Given the description of an element on the screen output the (x, y) to click on. 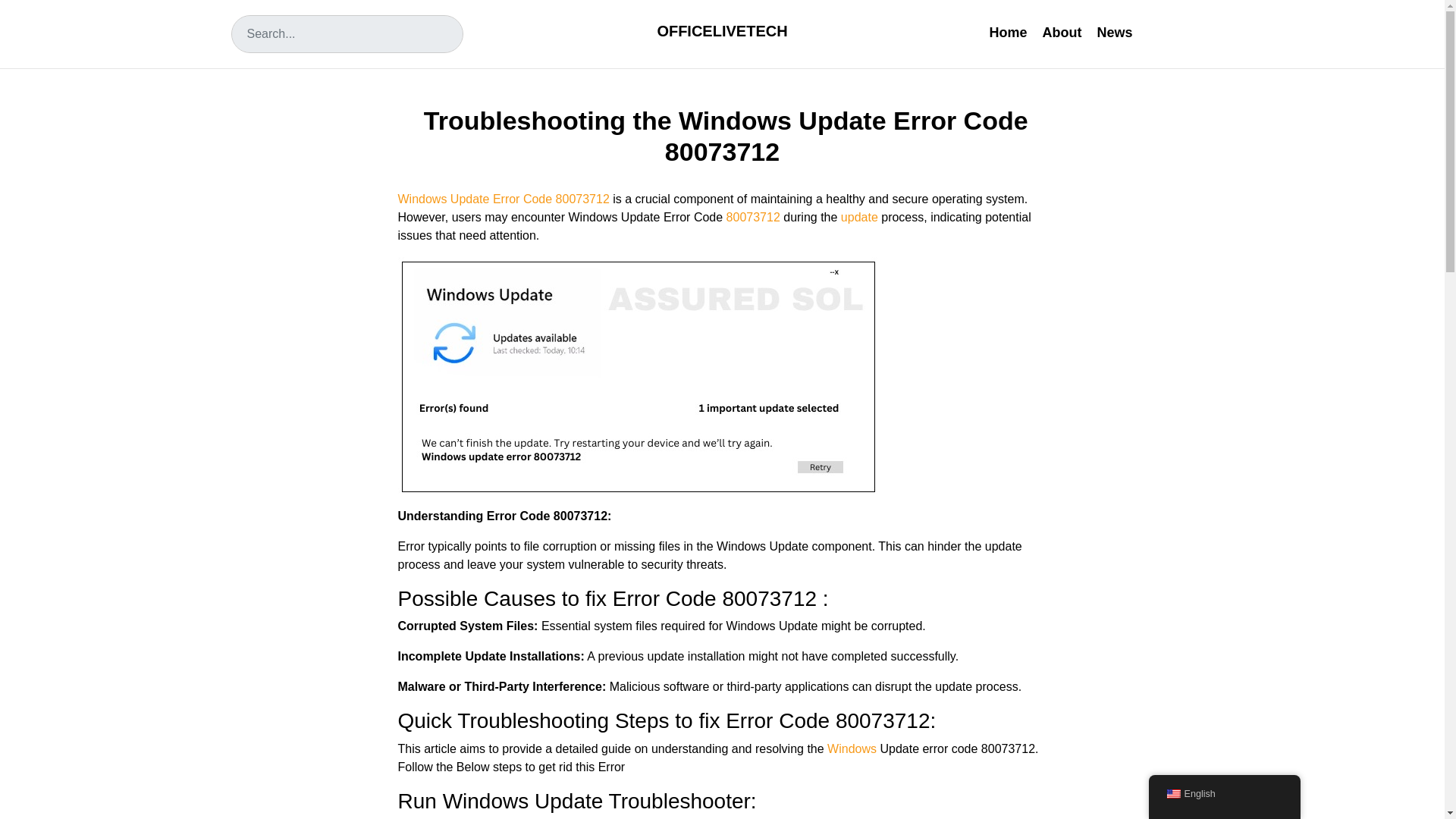
English (1172, 793)
update (857, 216)
80073712 (751, 216)
News (1114, 32)
About (1062, 32)
English (1224, 794)
Home (1007, 32)
Windows Update Error Code 80073712 (502, 198)
OFFICELIVETECH (721, 30)
Windows (851, 748)
